Given the description of an element on the screen output the (x, y) to click on. 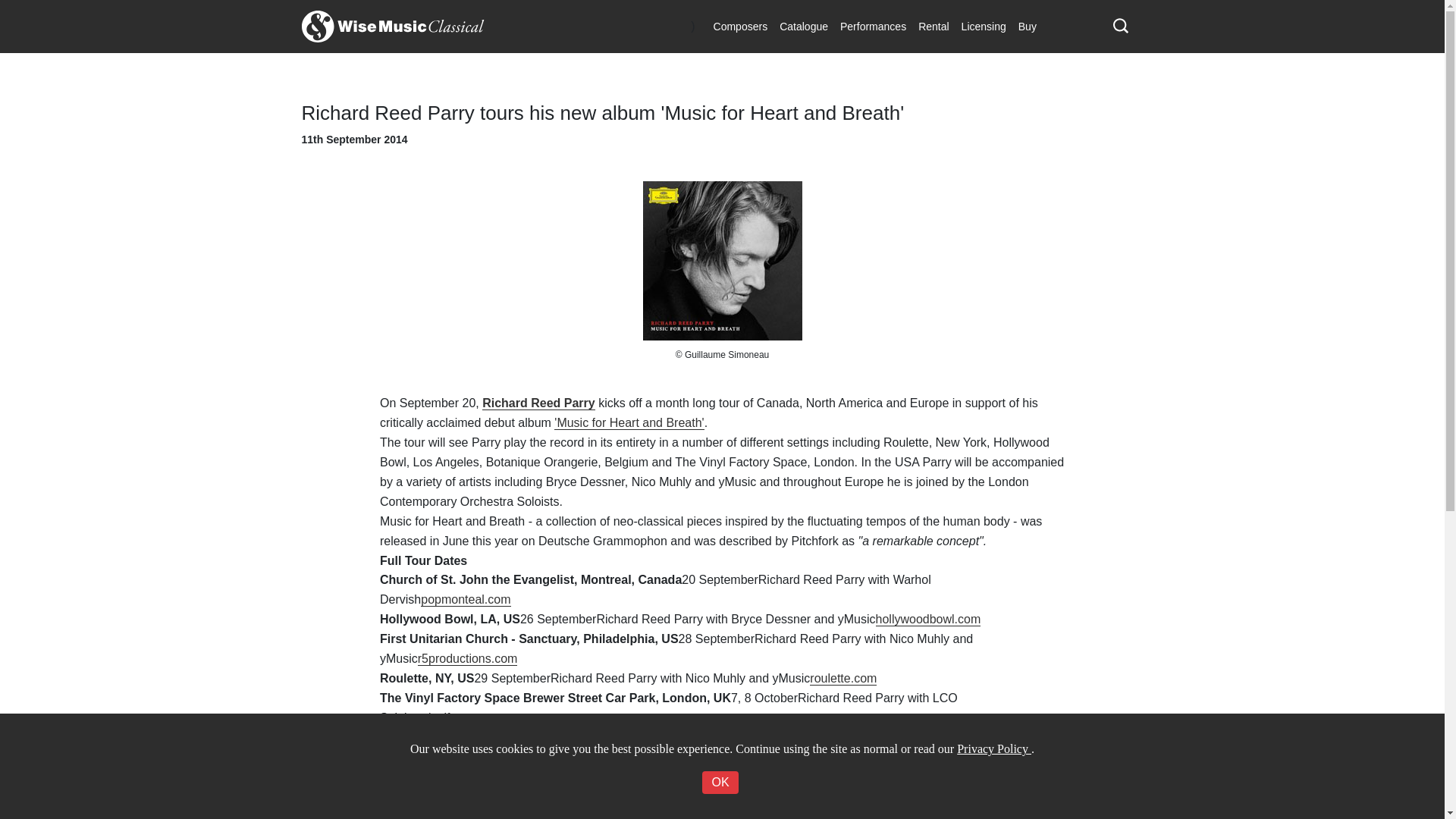
mehr.de (896, 776)
popmonteal.com (465, 599)
Catalogue (803, 26)
Composers (740, 26)
paradiso.nl (938, 737)
Buy (1026, 26)
r5productions.com (467, 658)
Licensing (983, 26)
hollywoodbowl.com (928, 619)
'Music for Heart and Breath' (628, 422)
OK (719, 782)
lelieuunique.com (872, 796)
Privacy Policy (993, 748)
vinylfactory.com (465, 717)
search-1 (1120, 25)
